Given the description of an element on the screen output the (x, y) to click on. 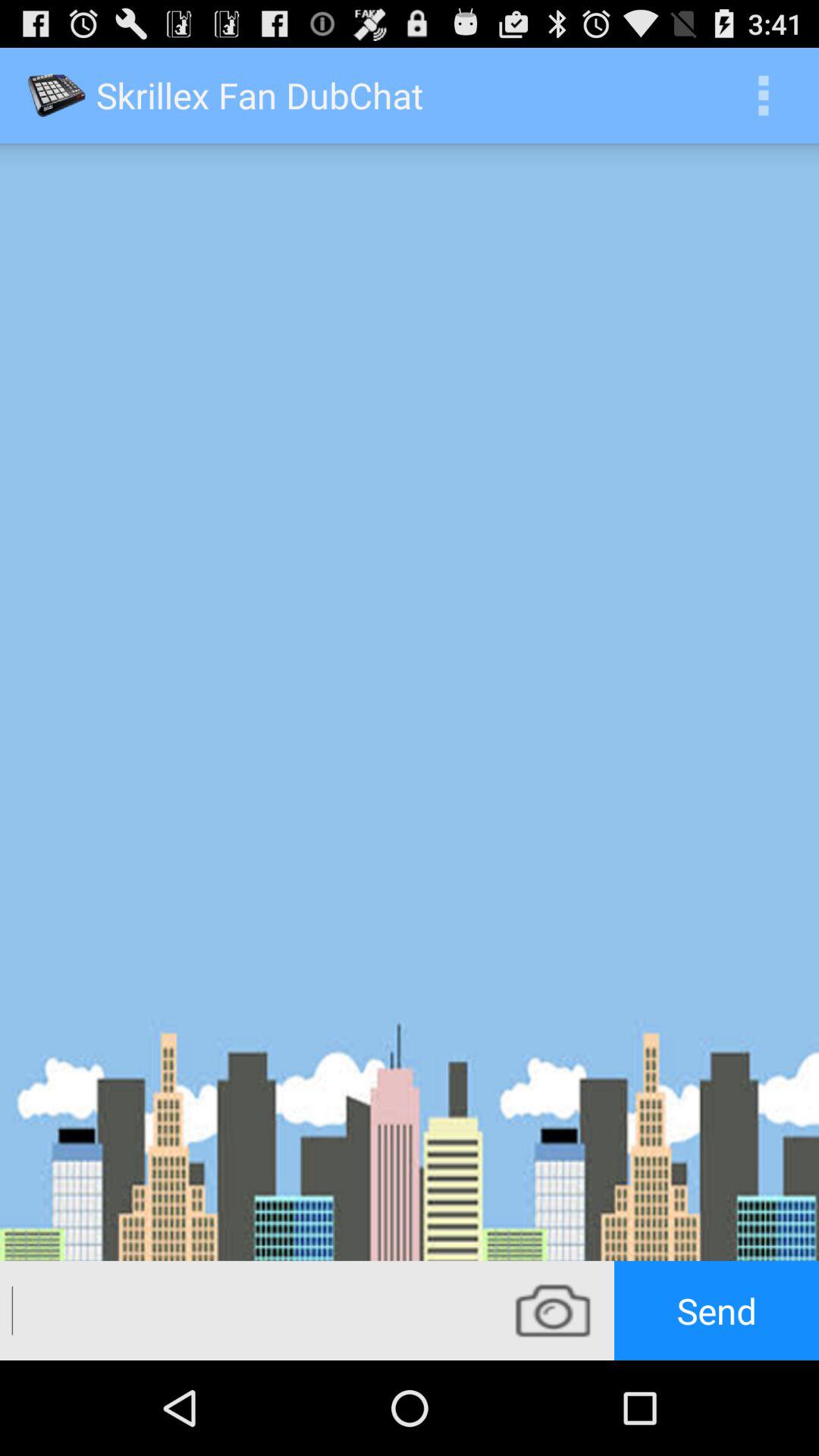
camera icon (552, 1310)
